Given the description of an element on the screen output the (x, y) to click on. 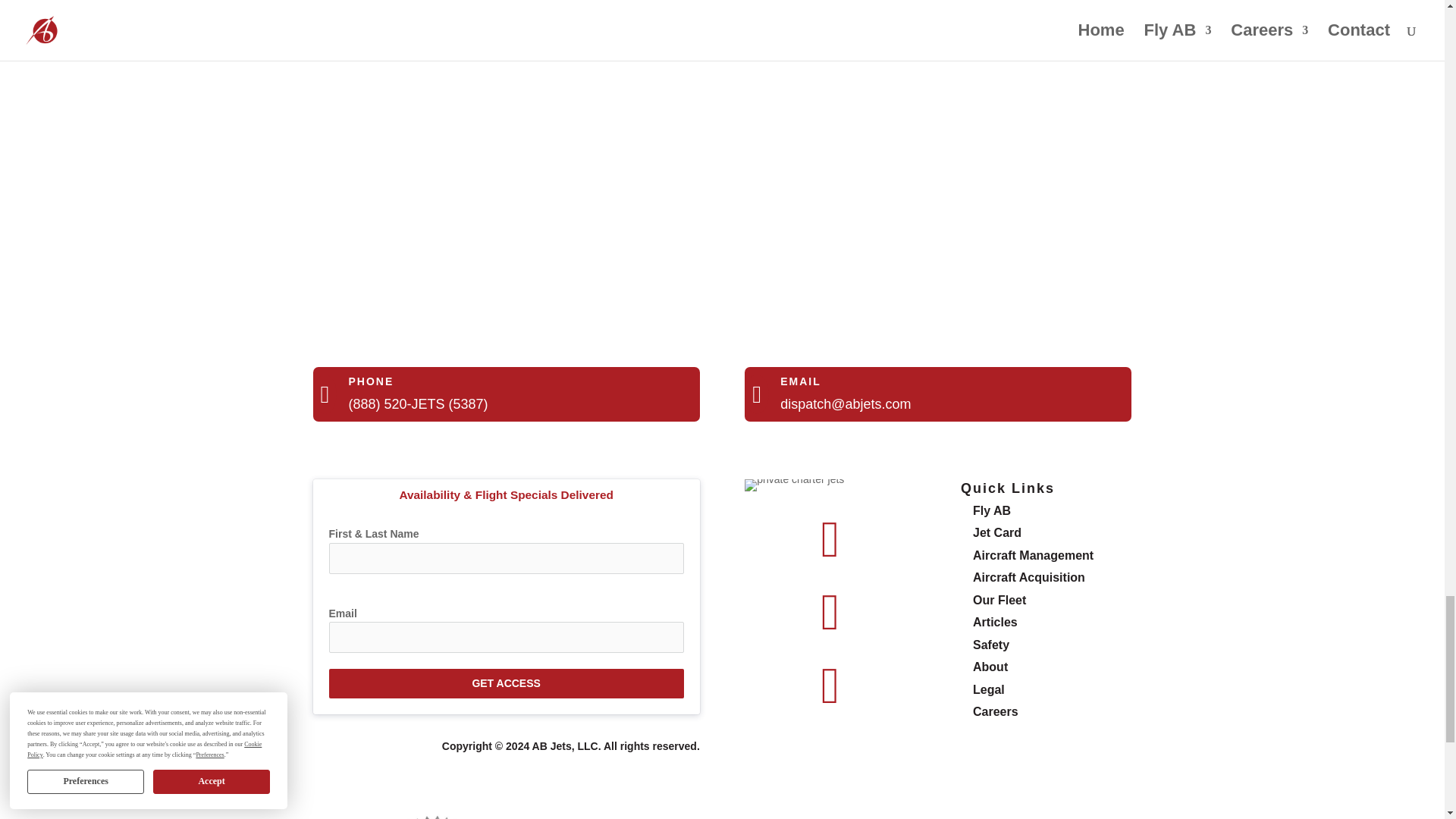
EMAIL (800, 381)
color.nbaa (1009, 816)
AB Jets - 25 years logo-compact-for email signature (794, 485)
